Given the description of an element on the screen output the (x, y) to click on. 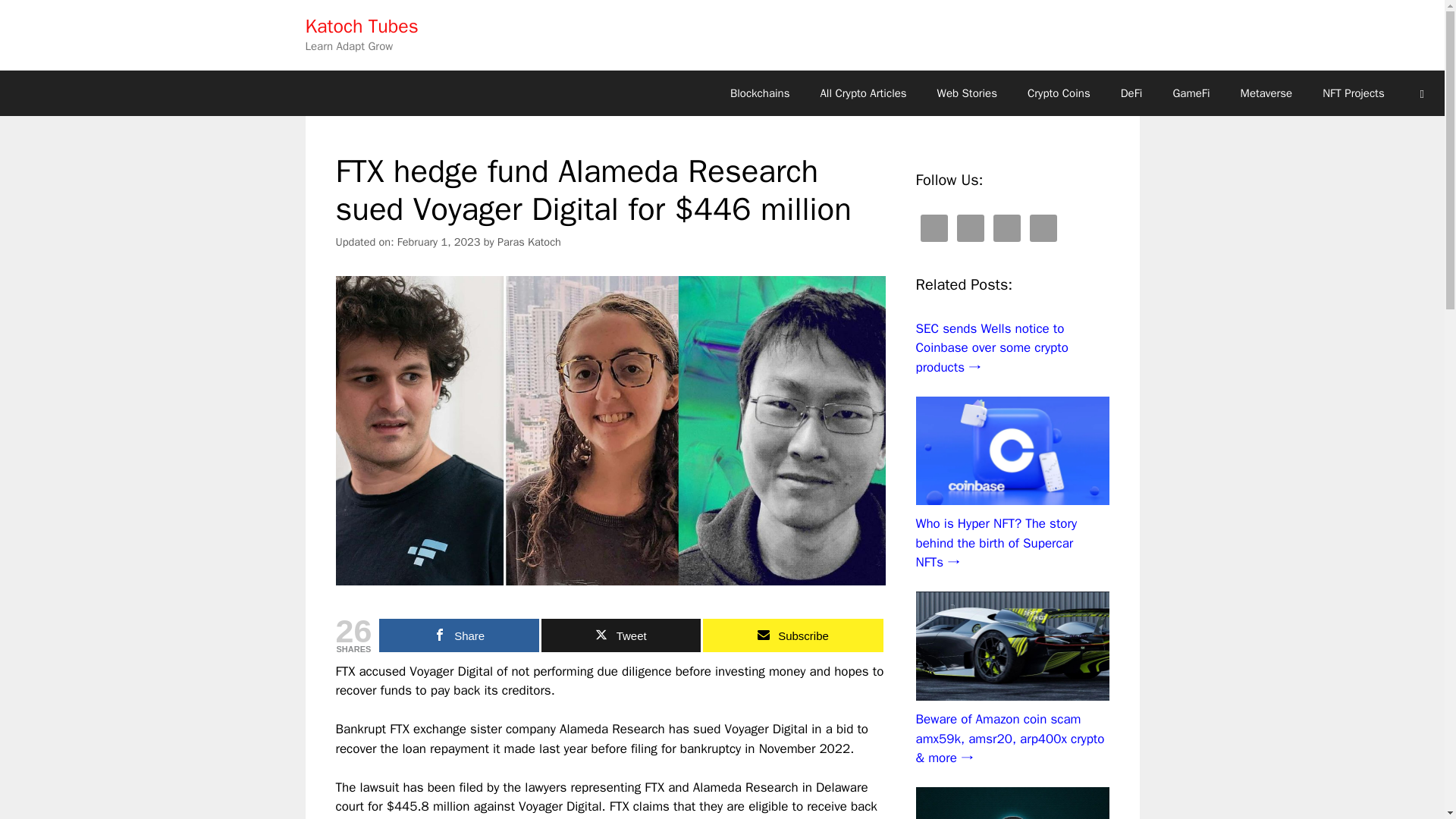
Katoch Tubes (360, 25)
All Crypto Articles (863, 92)
DeFi (1131, 92)
Blockchains (759, 92)
Web Stories (966, 92)
NFT Projects (1353, 92)
Paras Katoch (528, 241)
Subscribe (792, 635)
Tweet (621, 635)
Share (458, 635)
Metaverse (1266, 92)
GameFi (1190, 92)
Crypto Coins (1058, 92)
View all posts by Paras Katoch (528, 241)
